Given the description of an element on the screen output the (x, y) to click on. 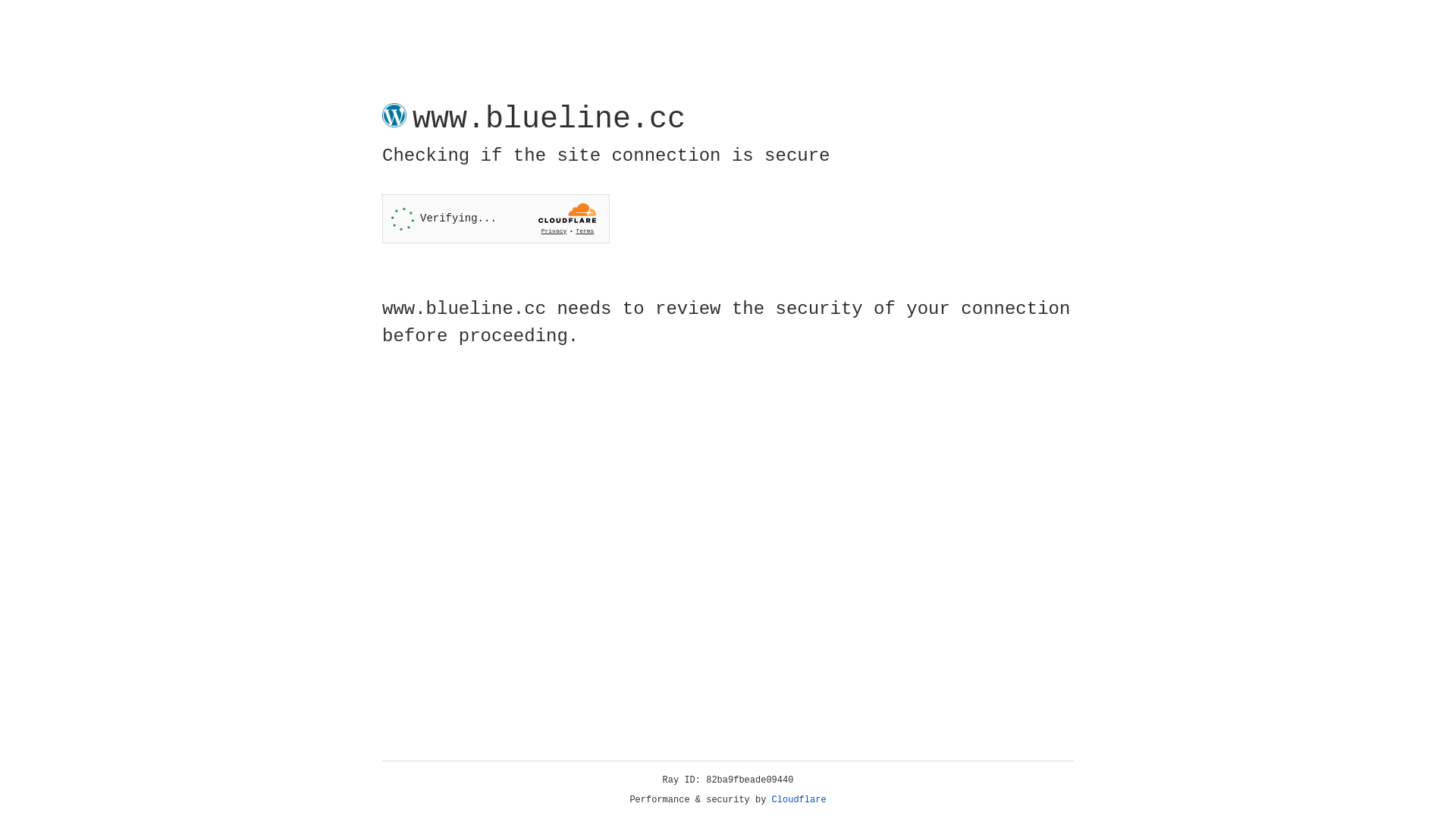
Cloudflare Element type: text (798, 799)
Widget containing a Cloudflare security challenge Element type: hover (495, 218)
